Given the description of an element on the screen output the (x, y) to click on. 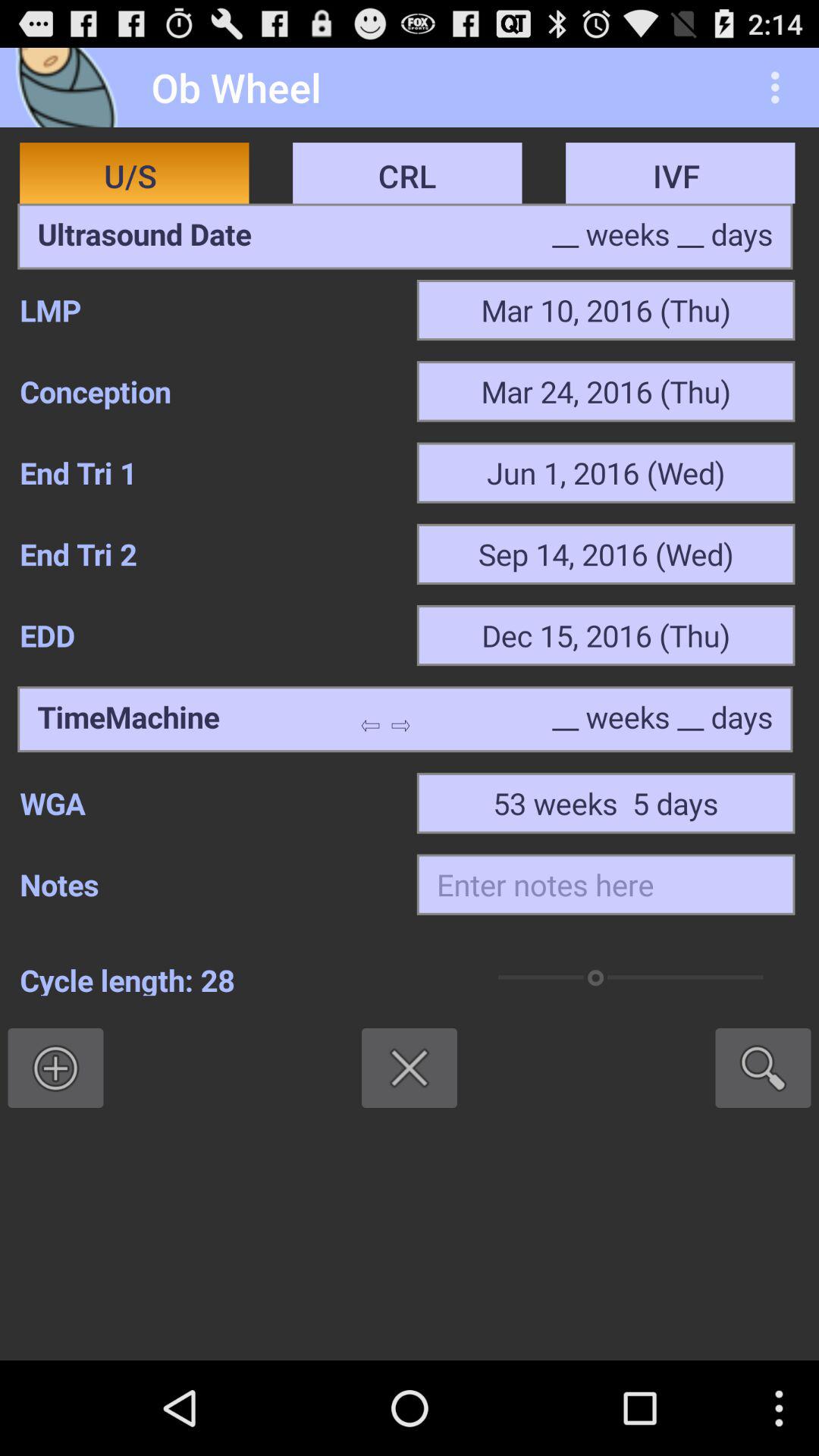
click icon below cycle length: 28 item (55, 1067)
